Given the description of an element on the screen output the (x, y) to click on. 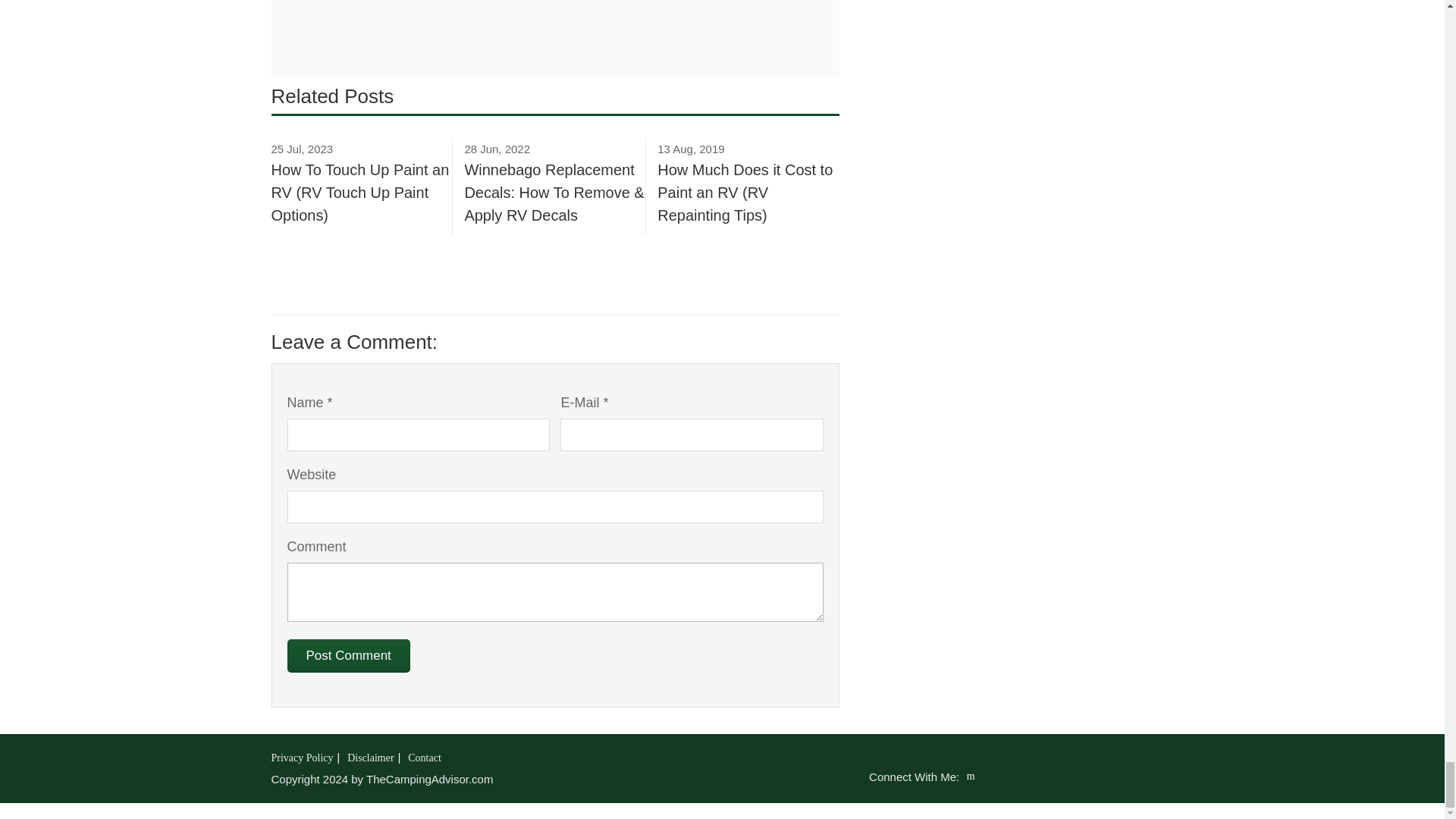
Post Comment (347, 655)
